Given the description of an element on the screen output the (x, y) to click on. 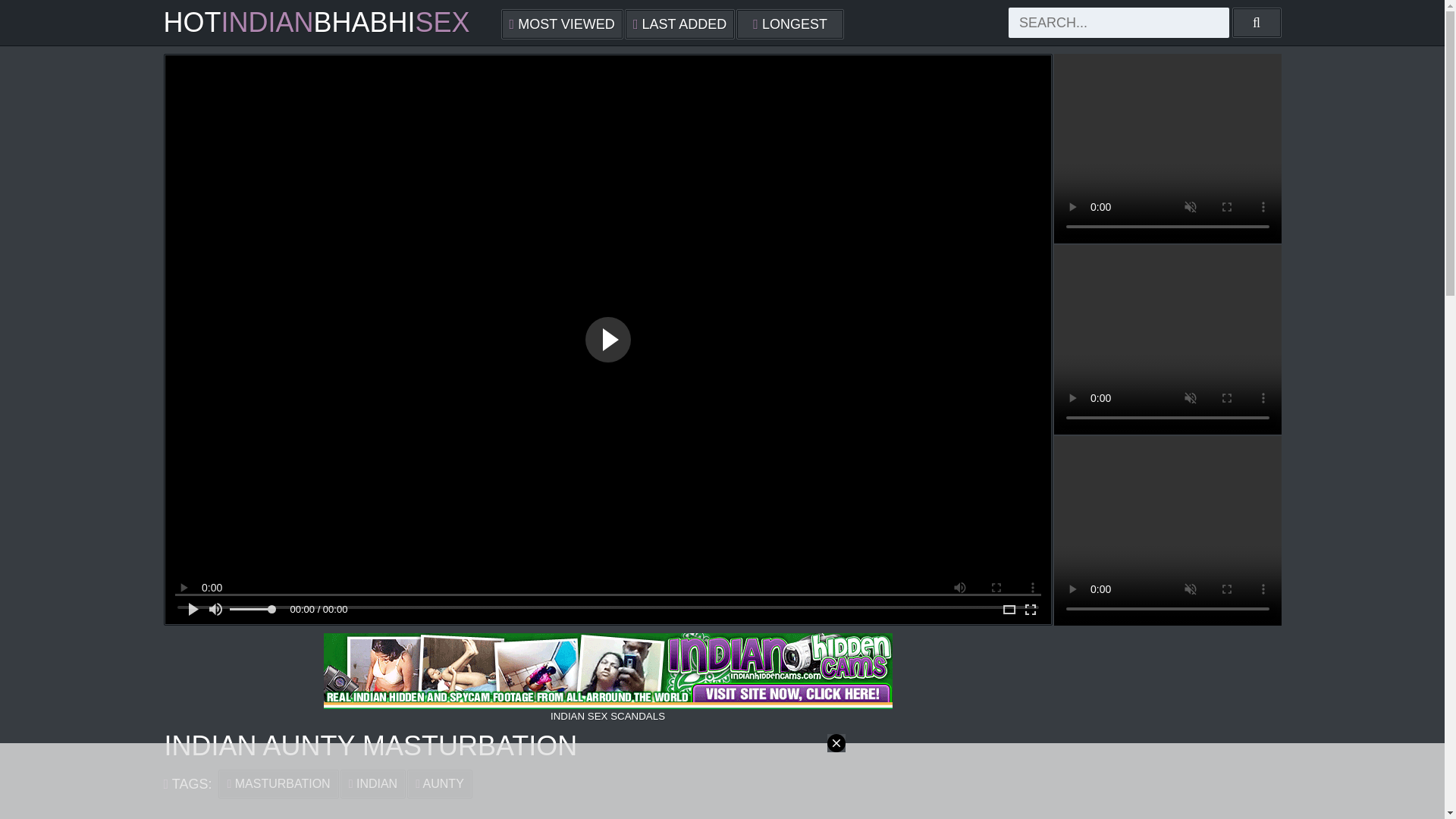
LONGEST (790, 24)
AUNTY (439, 783)
Find (1256, 22)
INDIAN (373, 783)
MASTURBATION (277, 783)
MOST VIEWED (561, 24)
INDIAN SEX SCANDALS (607, 677)
LAST ADDED (679, 24)
HOTINDIANBHABHISEX (316, 22)
